Given the description of an element on the screen output the (x, y) to click on. 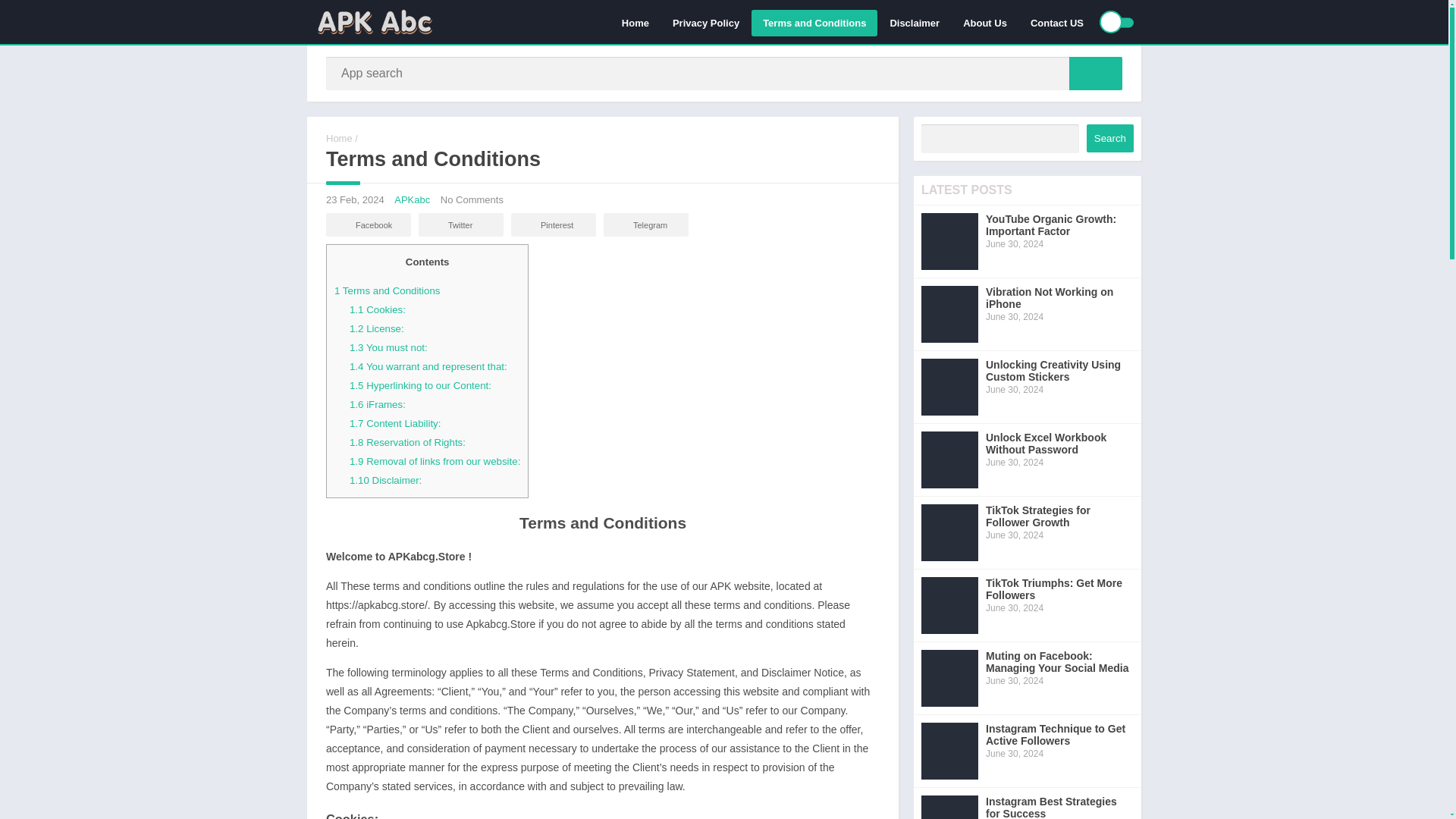
Twitter (461, 224)
Home (339, 138)
About Us (984, 22)
Home (635, 22)
Telegram (646, 224)
Privacy Policy (706, 22)
APKabc (411, 199)
Facebook (368, 224)
1.1 Cookies: (377, 309)
1 Terms and Conditions (386, 290)
Pinterest (553, 224)
Contact US (1056, 22)
Terms and Conditions (814, 22)
Disclaimer (913, 22)
App search (1095, 73)
